Given the description of an element on the screen output the (x, y) to click on. 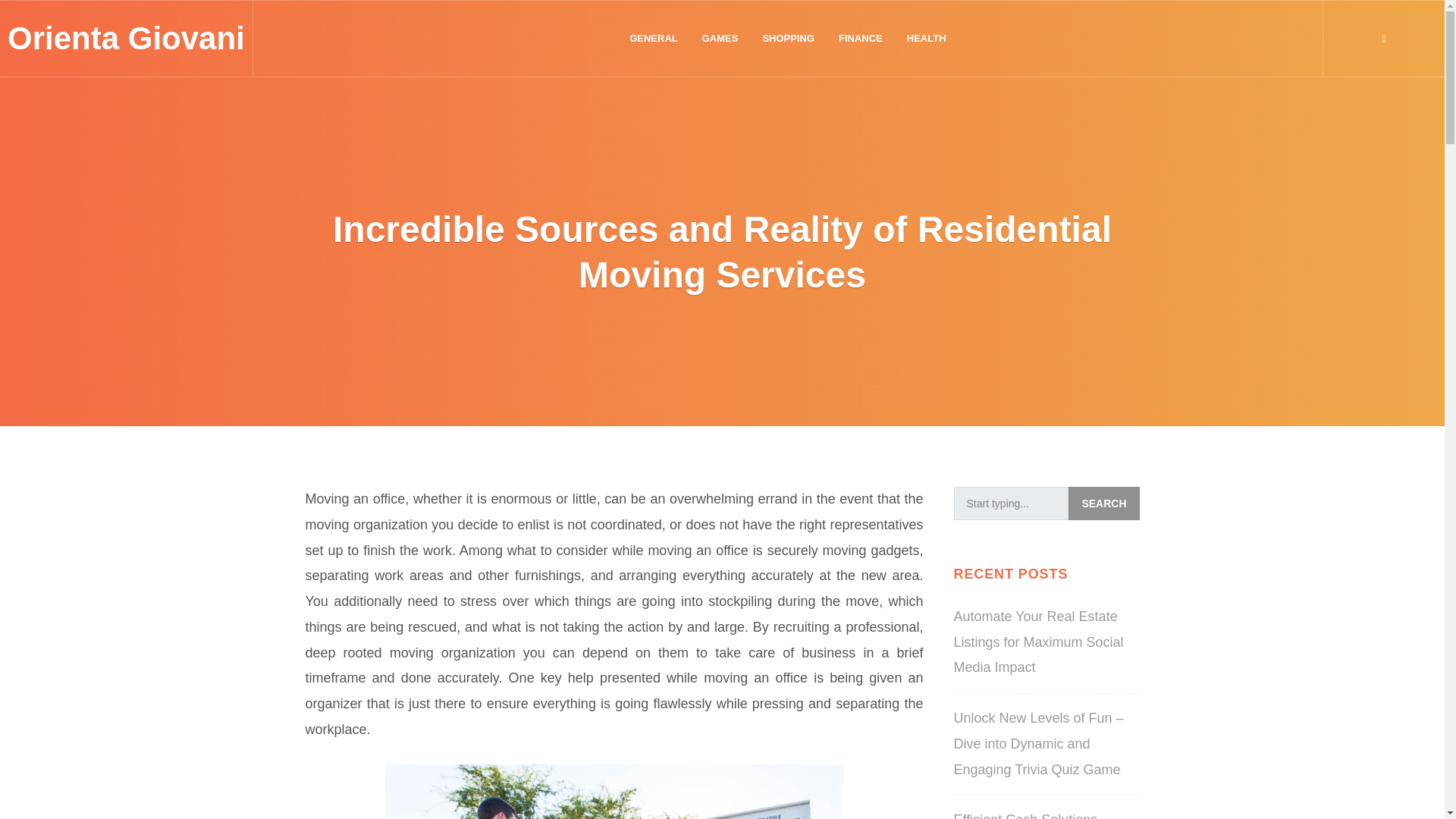
GAMES (720, 38)
HEALTH (926, 38)
SHOPPING (788, 38)
Orienta Giovani (125, 38)
GENERAL (653, 38)
FINANCE (861, 38)
Search (1103, 503)
Orienta Giovani (125, 38)
Search (1103, 503)
